Given the description of an element on the screen output the (x, y) to click on. 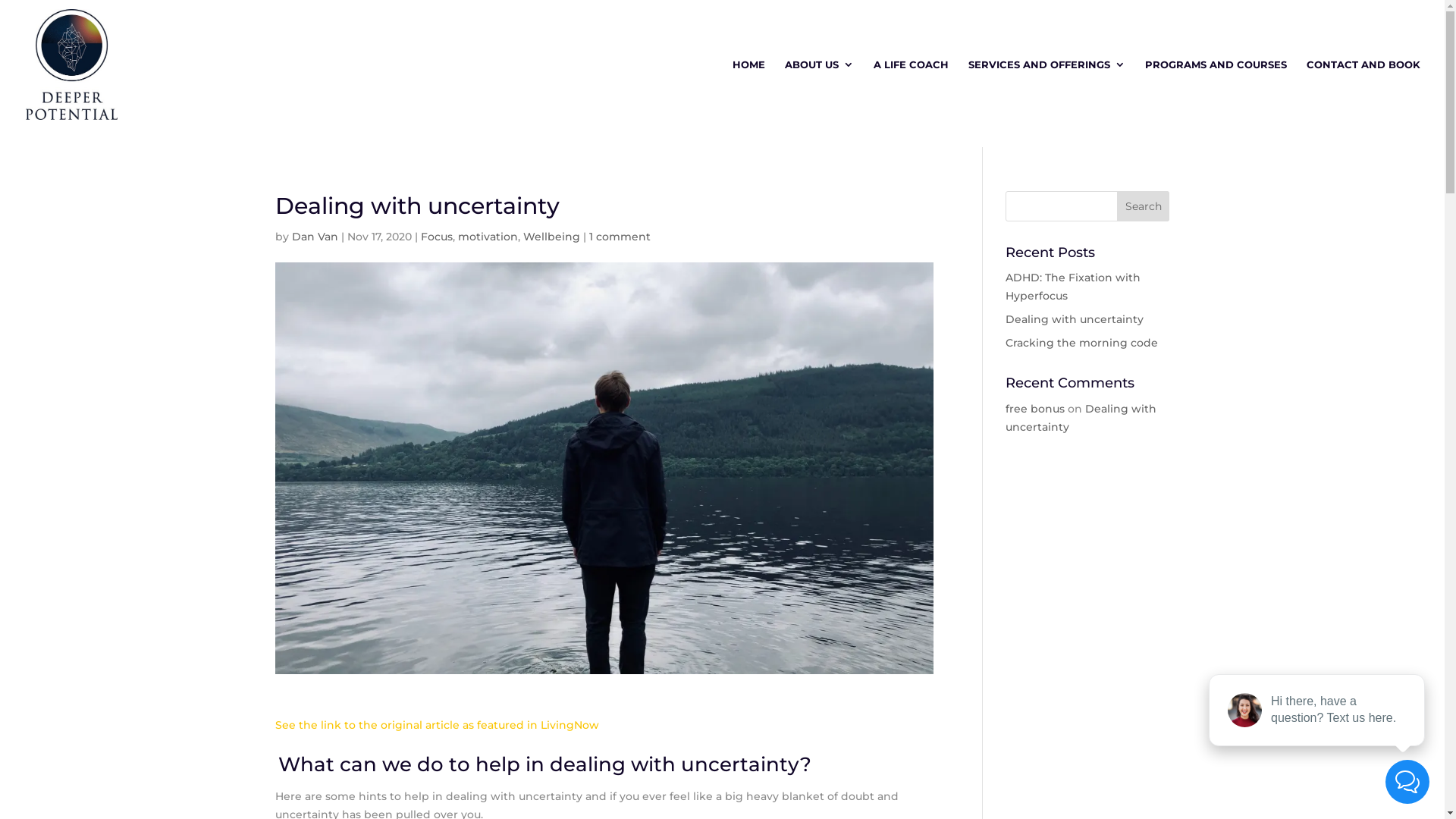
Focus Element type: text (435, 236)
ABOUT US Element type: text (818, 93)
Dan Van Element type: text (314, 236)
SERVICES AND OFFERINGS Element type: text (1046, 93)
Dealing with uncertainty Element type: text (1074, 319)
Cracking the morning code Element type: text (1081, 342)
free bonus Element type: text (1034, 408)
Wellbeing Element type: text (551, 236)
HOME Element type: text (748, 93)
1 comment Element type: text (618, 236)
Search Element type: text (1143, 206)
motivation Element type: text (487, 236)
CONTACT AND BOOK Element type: text (1363, 93)
A LIFE COACH Element type: text (910, 93)
Dealing with uncertainty Element type: text (1080, 417)
ADHD: The Fixation with Hyperfocus Element type: text (1072, 286)
PROGRAMS AND COURSES Element type: text (1215, 93)
